Given the description of an element on the screen output the (x, y) to click on. 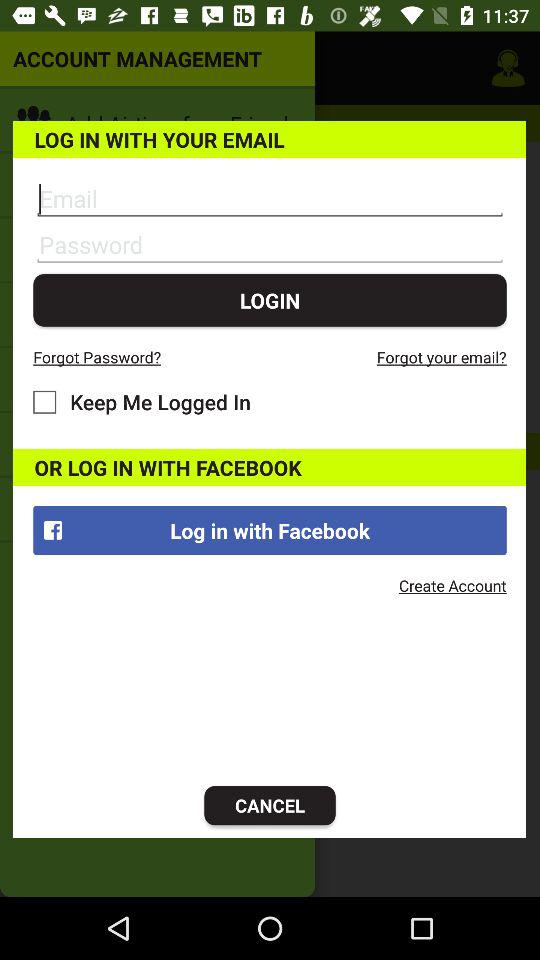
press the cancel (269, 805)
